Given the description of an element on the screen output the (x, y) to click on. 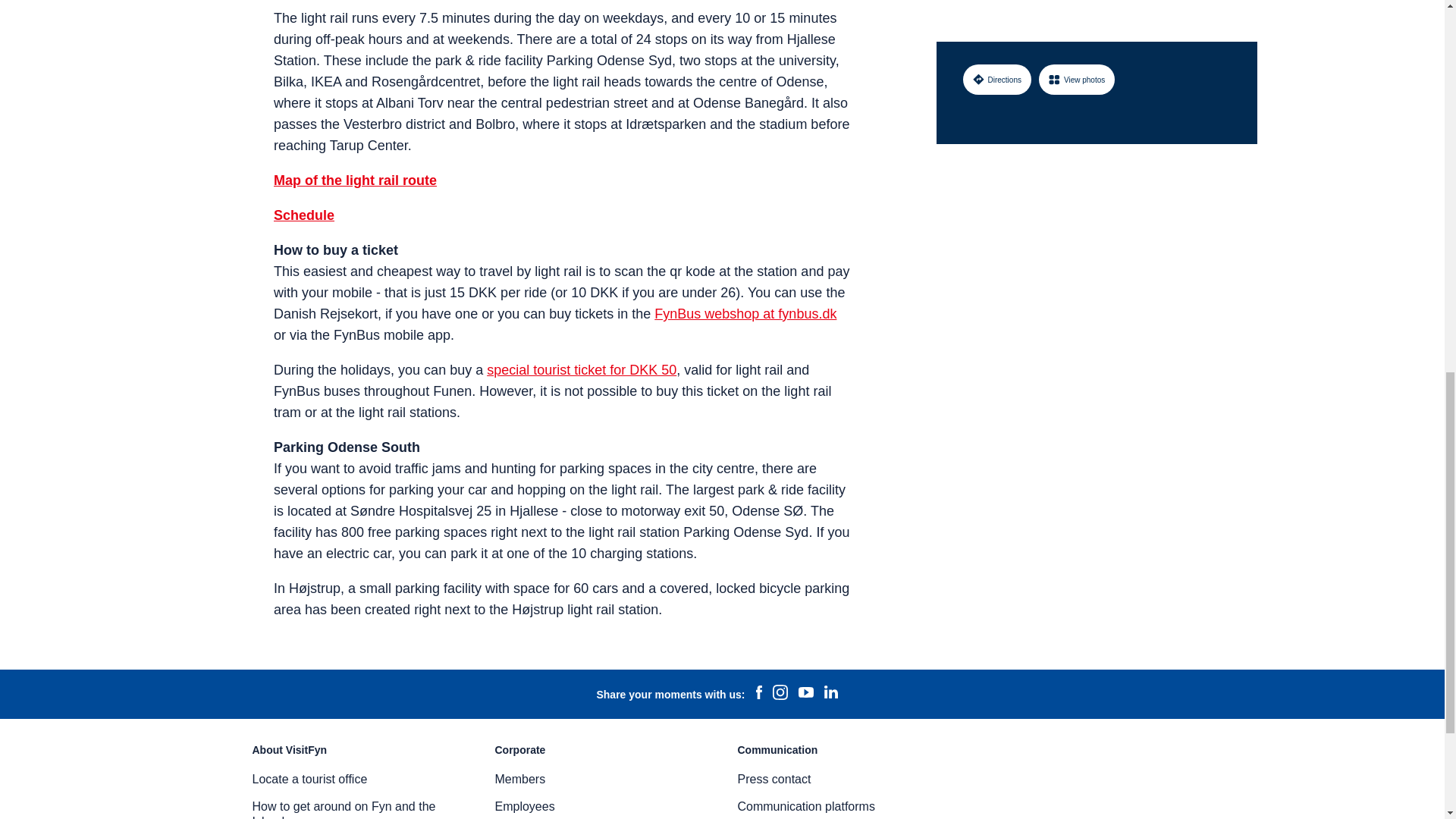
How to get around on Fyn and the Islands (343, 809)
FynBus webshop (744, 313)
Locate a tourist office (308, 779)
Locate a tourist office (308, 779)
How to get around on Fyn and the Islands (343, 809)
Employees (524, 806)
Schedule (303, 215)
special tourist ticket for DKK 50 (581, 369)
instagram (780, 694)
Communication platforms (805, 806)
Schedule (303, 215)
Press contact (773, 779)
youtube (805, 693)
special tourist ticket for DKK 50 (581, 369)
Employees (524, 806)
